Given the description of an element on the screen output the (x, y) to click on. 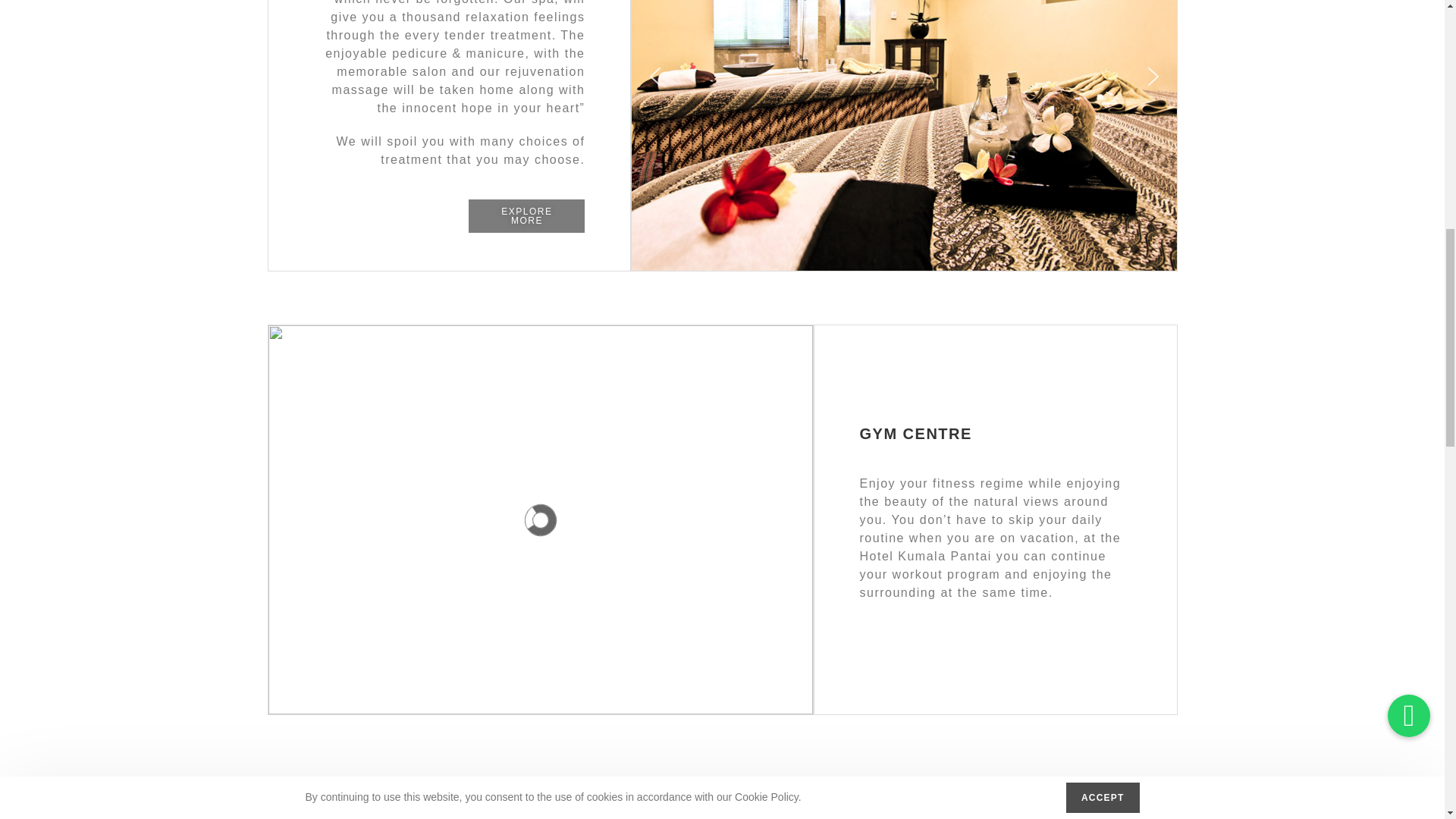
EXPLORE MORE (526, 215)
